Given the description of an element on the screen output the (x, y) to click on. 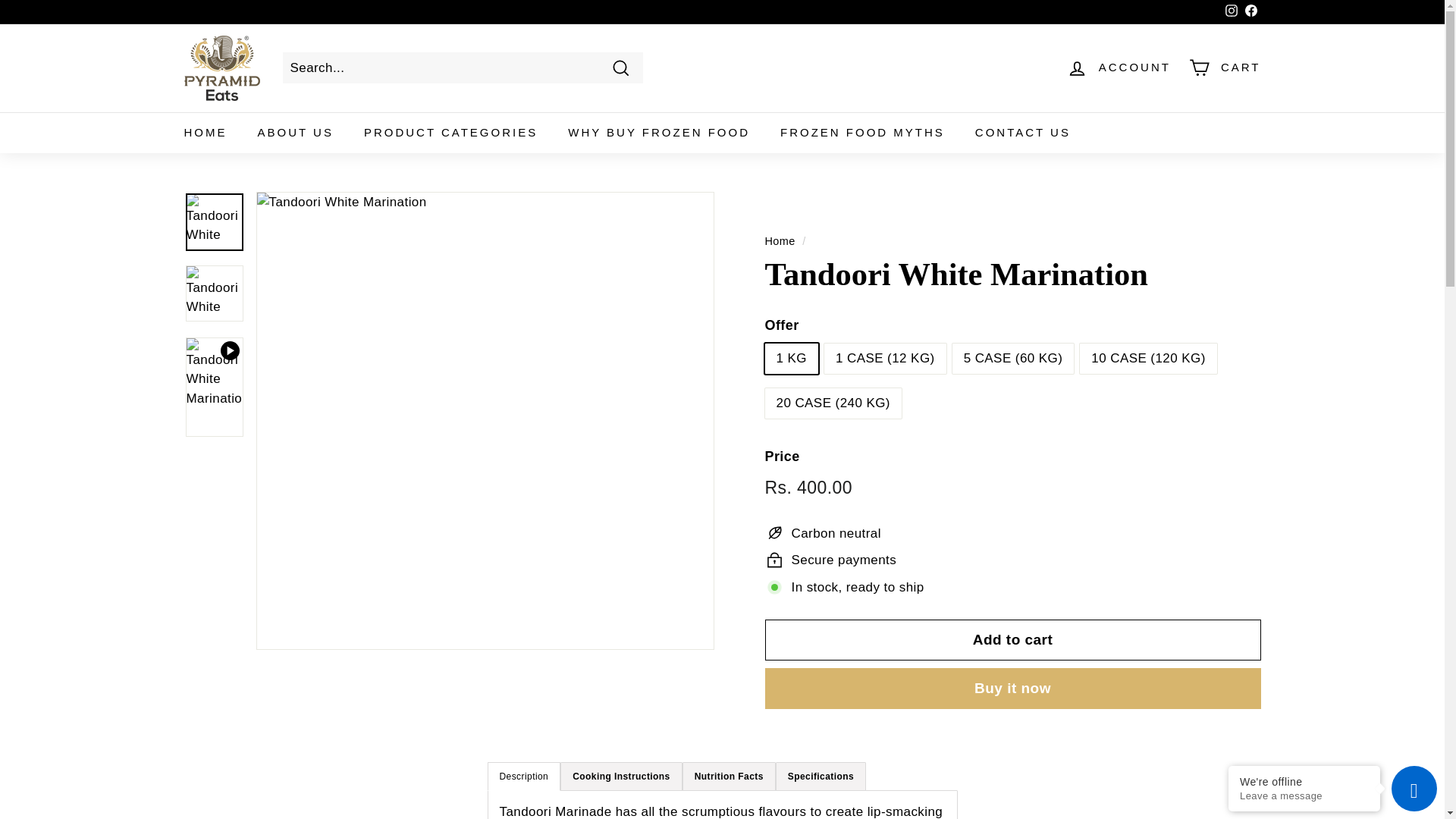
ACCOUNT (1118, 67)
PRODUCT CATEGORIES (451, 132)
FROZEN FOOD MYTHS (862, 132)
HOME (204, 132)
Back to the frontpage (779, 241)
CONTACT US (1022, 132)
ABOUT US (296, 132)
WHY BUY FROZEN FOOD (659, 132)
